Given the description of an element on the screen output the (x, y) to click on. 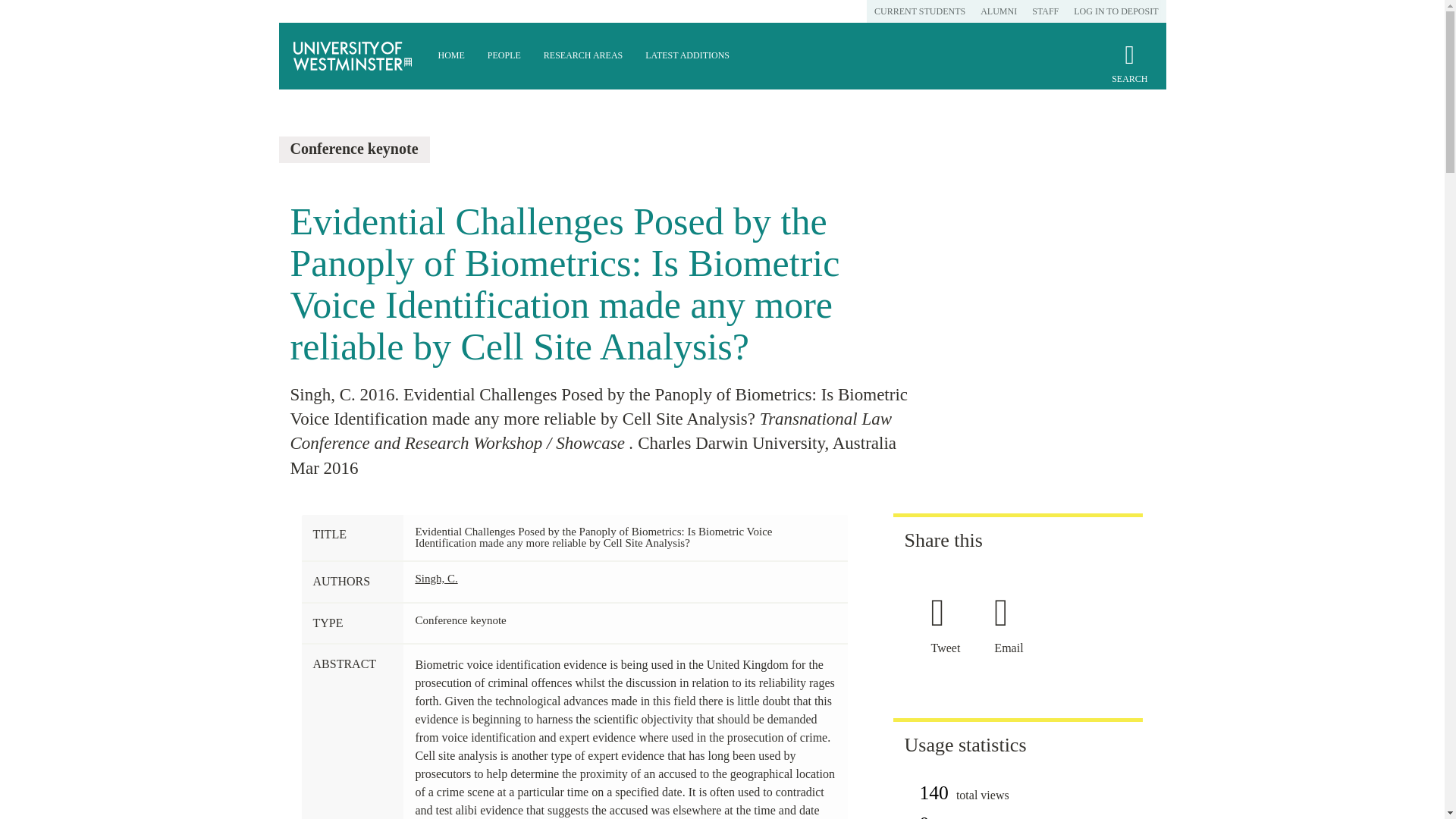
University of Westminster (352, 55)
RESEARCH AREAS (582, 55)
LATEST ADDITIONS (687, 55)
STAFF (1045, 11)
CURRENT STUDENTS (919, 11)
ALUMNI (998, 11)
LOG IN TO DEPOSIT (1115, 11)
Singh, C. (435, 578)
SEARCH (1129, 69)
